Given the description of an element on the screen output the (x, y) to click on. 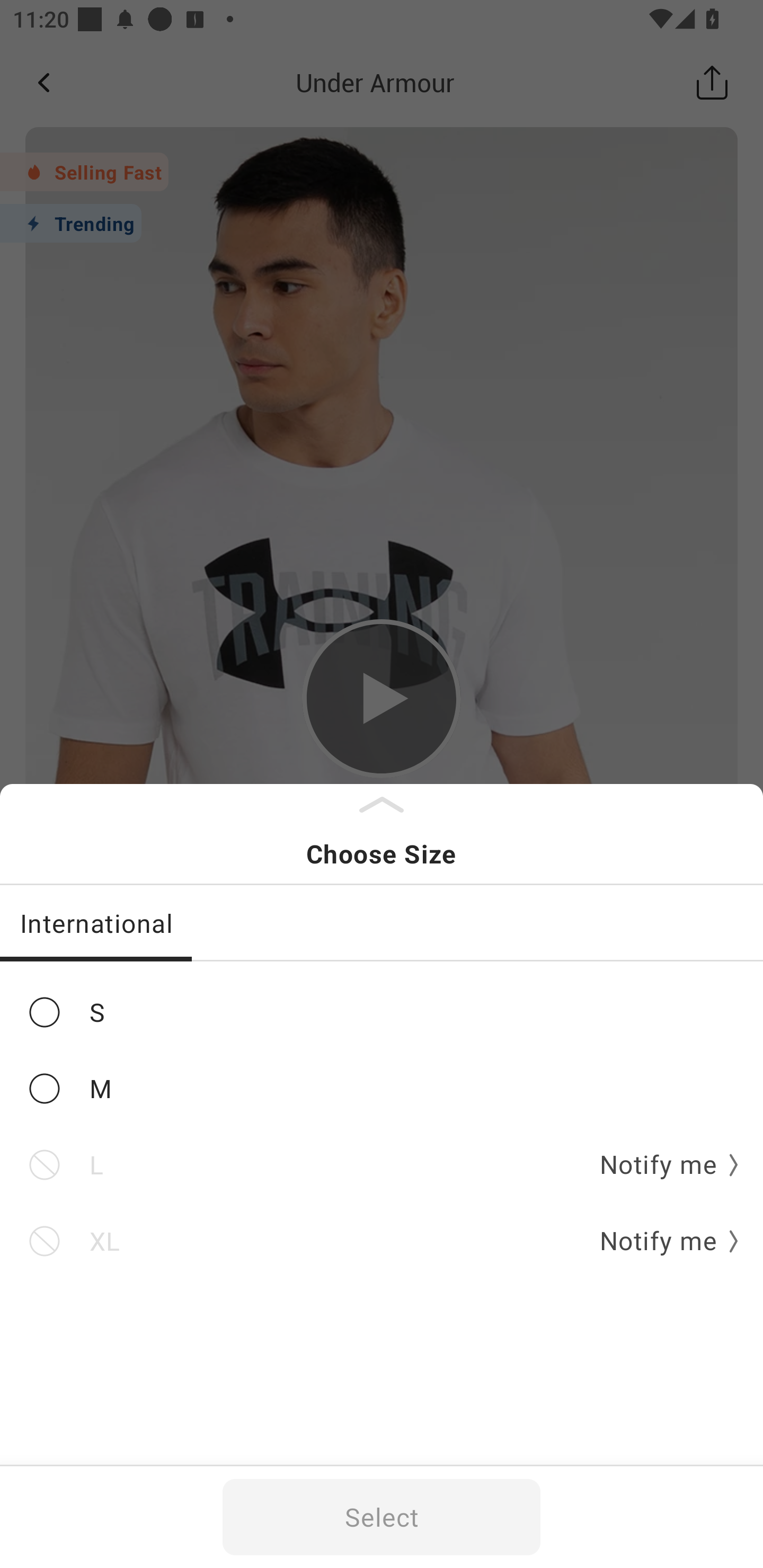
S (381, 1011)
M (381, 1088)
Notify me (661, 1164)
Notify me (661, 1240)
Select (381, 1516)
